Given the description of an element on the screen output the (x, y) to click on. 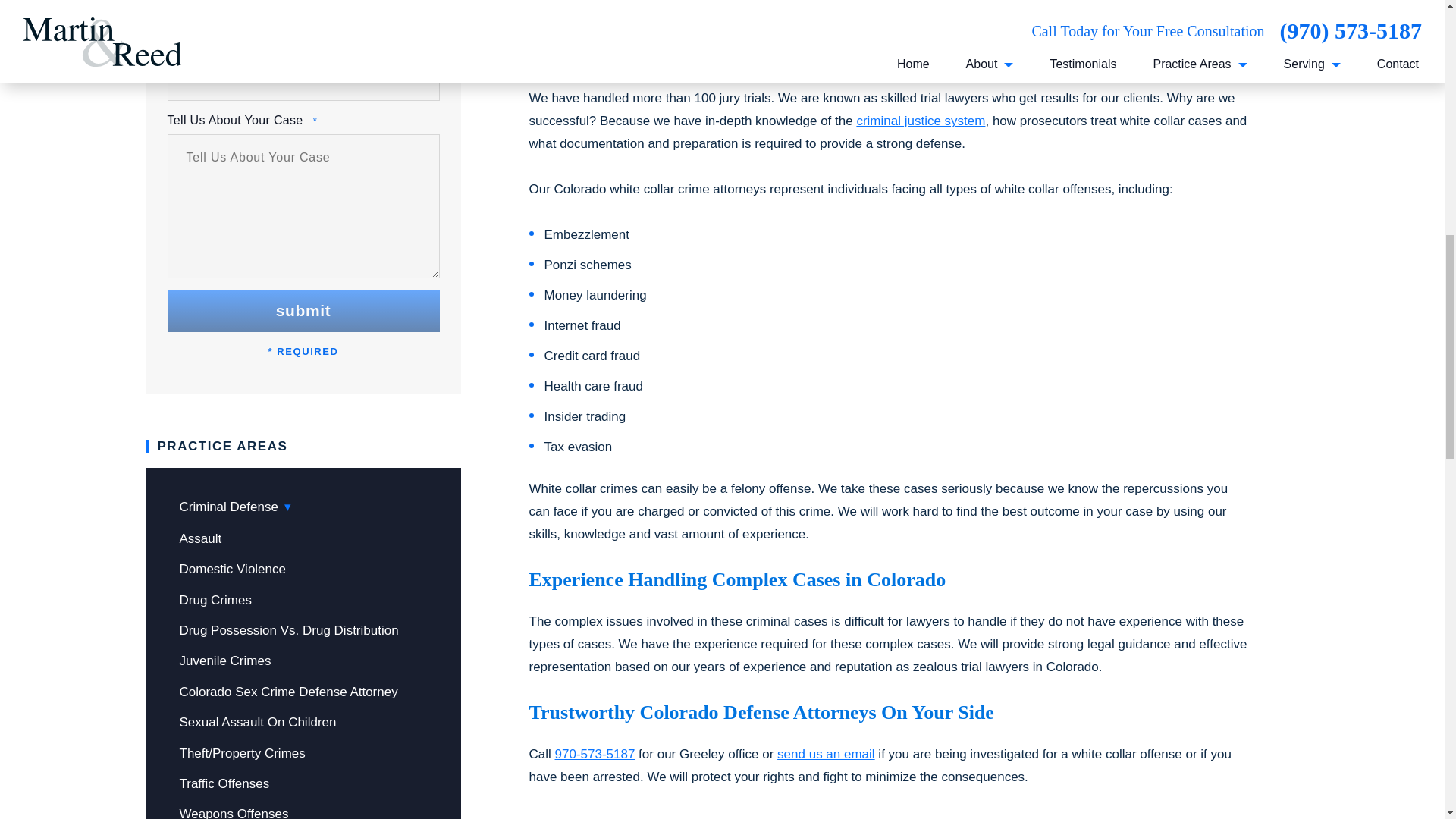
Assault (200, 538)
Weapons Offenses (233, 812)
Drug Possession Vs. Drug Distribution (288, 630)
Colorado Sex Crime Defense Attorney (288, 691)
Drug Crimes (214, 599)
Traffic Offenses (224, 783)
Domestic Violence (232, 568)
Criminal Defense (235, 506)
Juvenile Crimes (224, 660)
submit (303, 310)
